Given the description of an element on the screen output the (x, y) to click on. 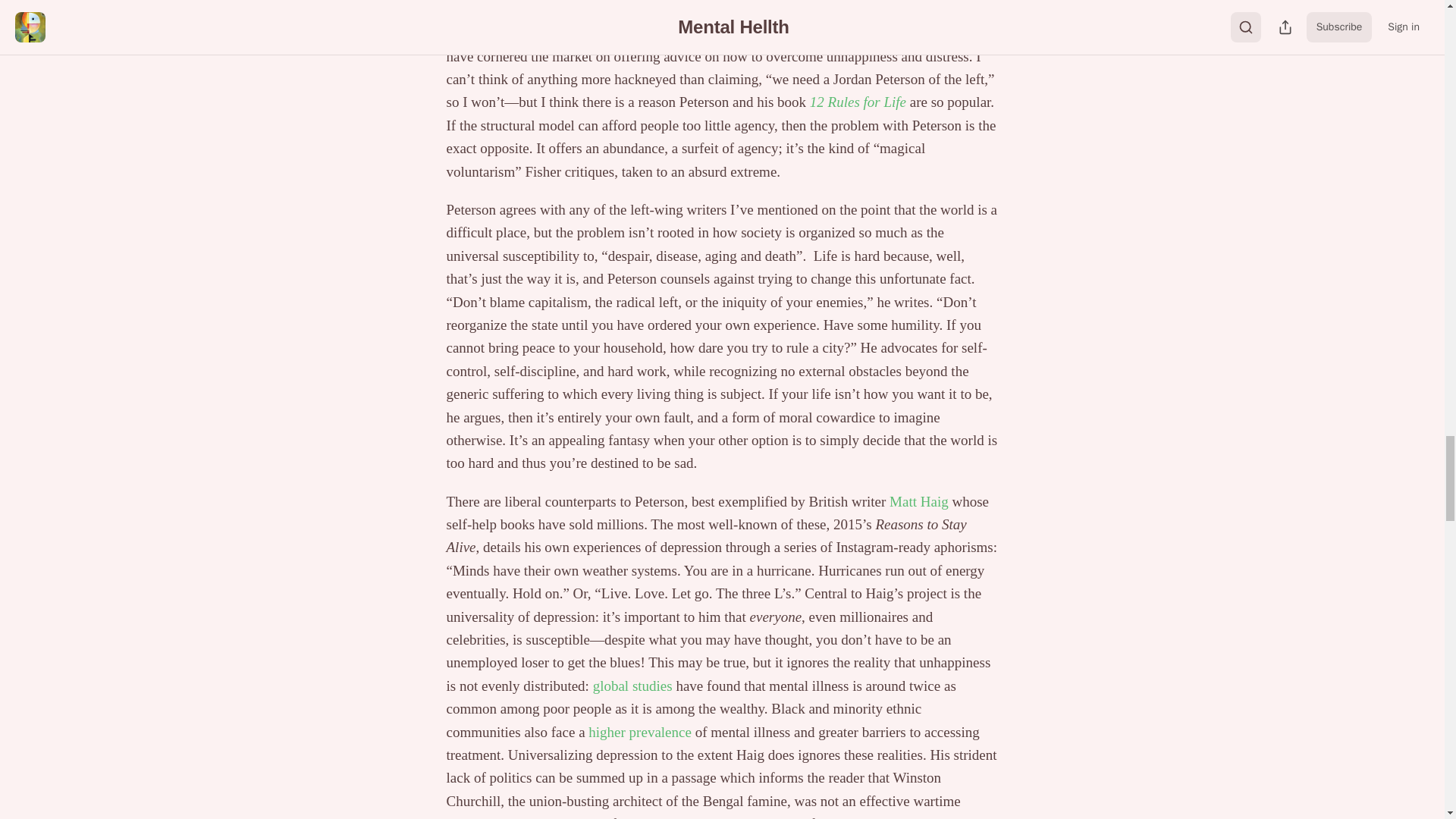
Matt Haig (919, 501)
12 Rules for Life (857, 101)
